Given the description of an element on the screen output the (x, y) to click on. 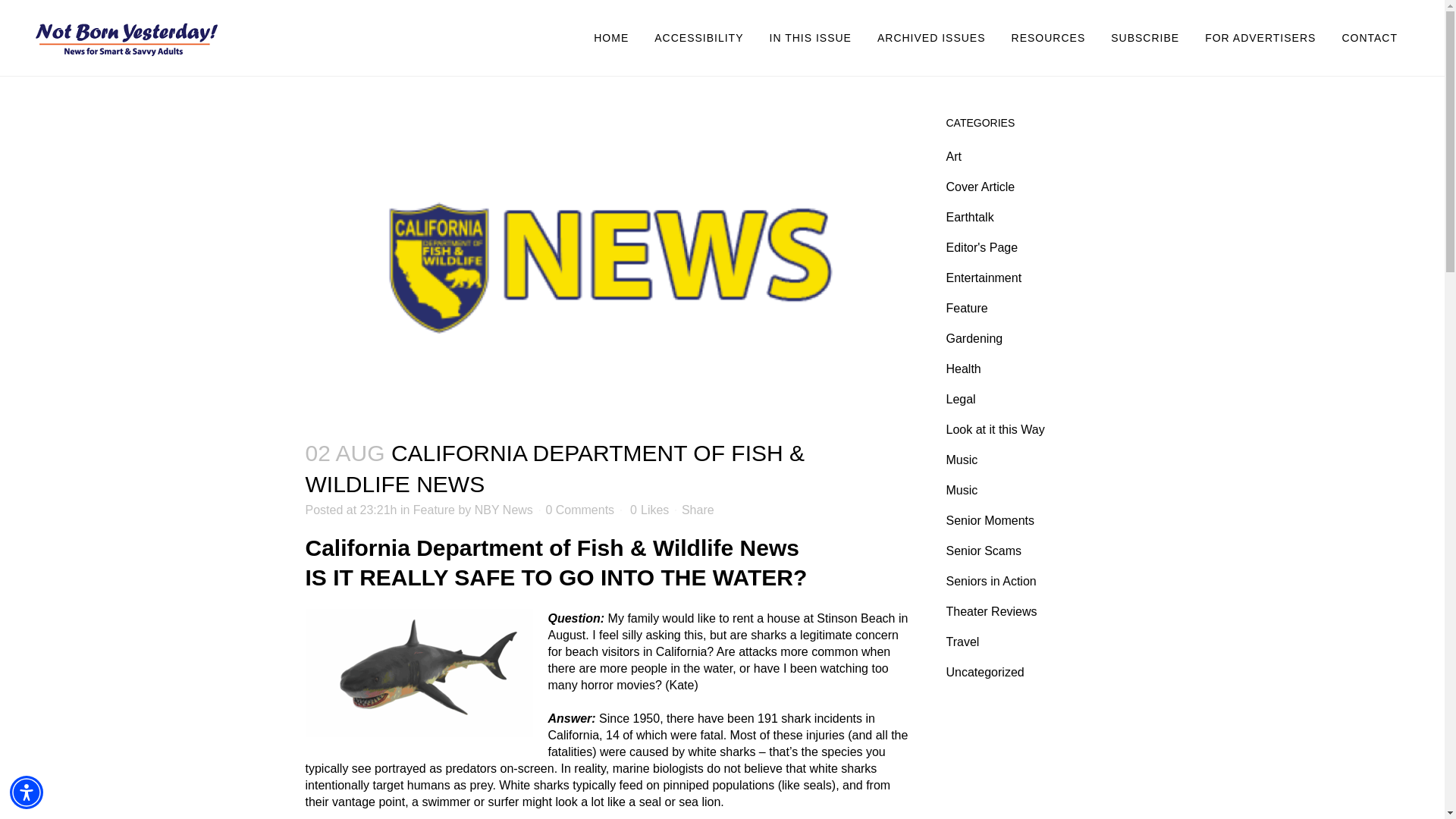
ACCESSIBILITY (698, 38)
RESOURCES (1048, 38)
IN THIS ISSUE (810, 38)
SUBSCRIBE (1144, 38)
CONTACT (1368, 38)
ARCHIVED ISSUES (931, 38)
Accessibility Menu (26, 792)
Like this (649, 510)
FOR ADVERTISERS (1259, 38)
